Given the description of an element on the screen output the (x, y) to click on. 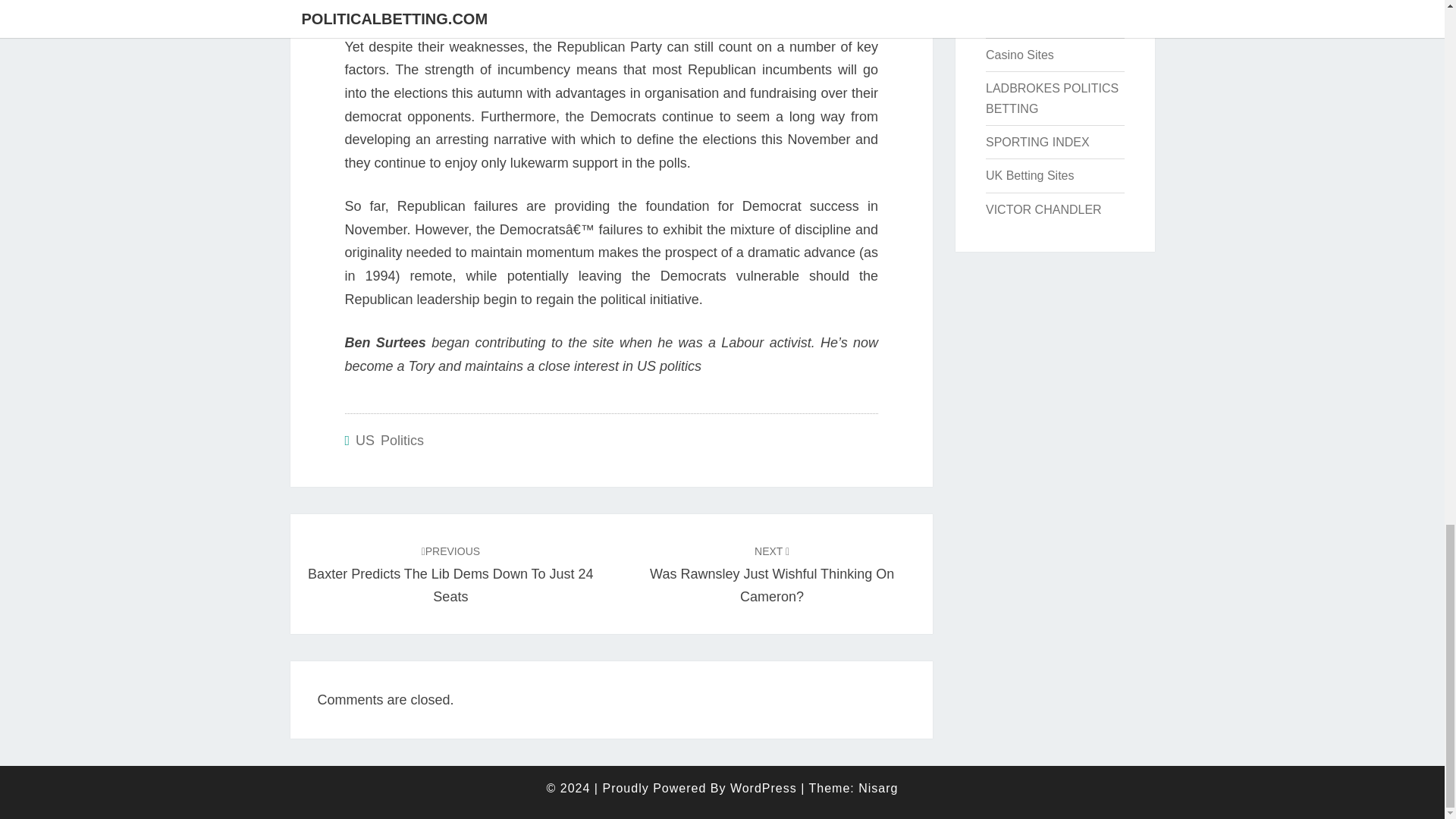
Casino Sites (1019, 54)
SPORTING INDEX (771, 573)
VICTOR CHANDLER (1037, 141)
UK Betting Sites (1043, 209)
US Politics (450, 573)
LADBROKES POLITICS BETTING (1029, 174)
Ace Odds bet calculator (389, 440)
WordPress (1051, 98)
